Given the description of an element on the screen output the (x, y) to click on. 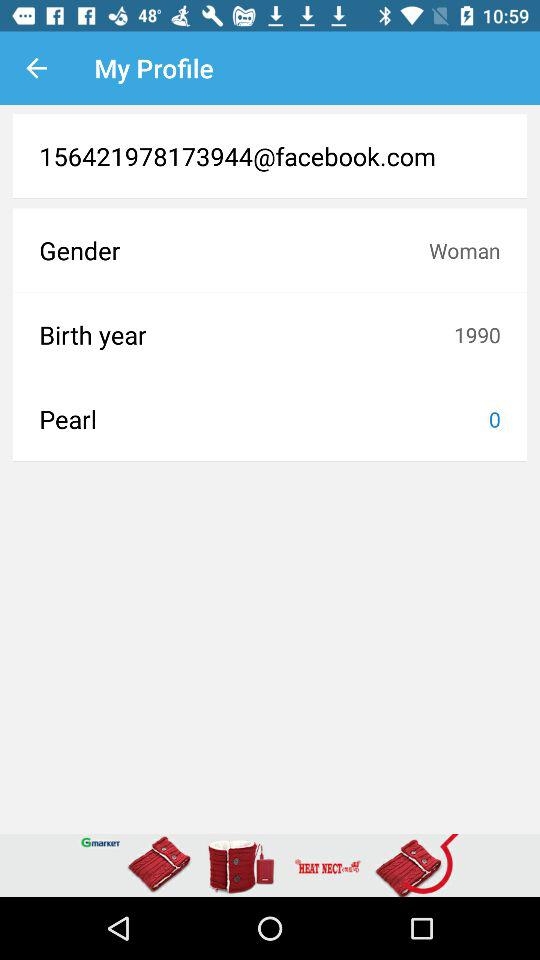
click the icon next to woman item (233, 250)
